Given the description of an element on the screen output the (x, y) to click on. 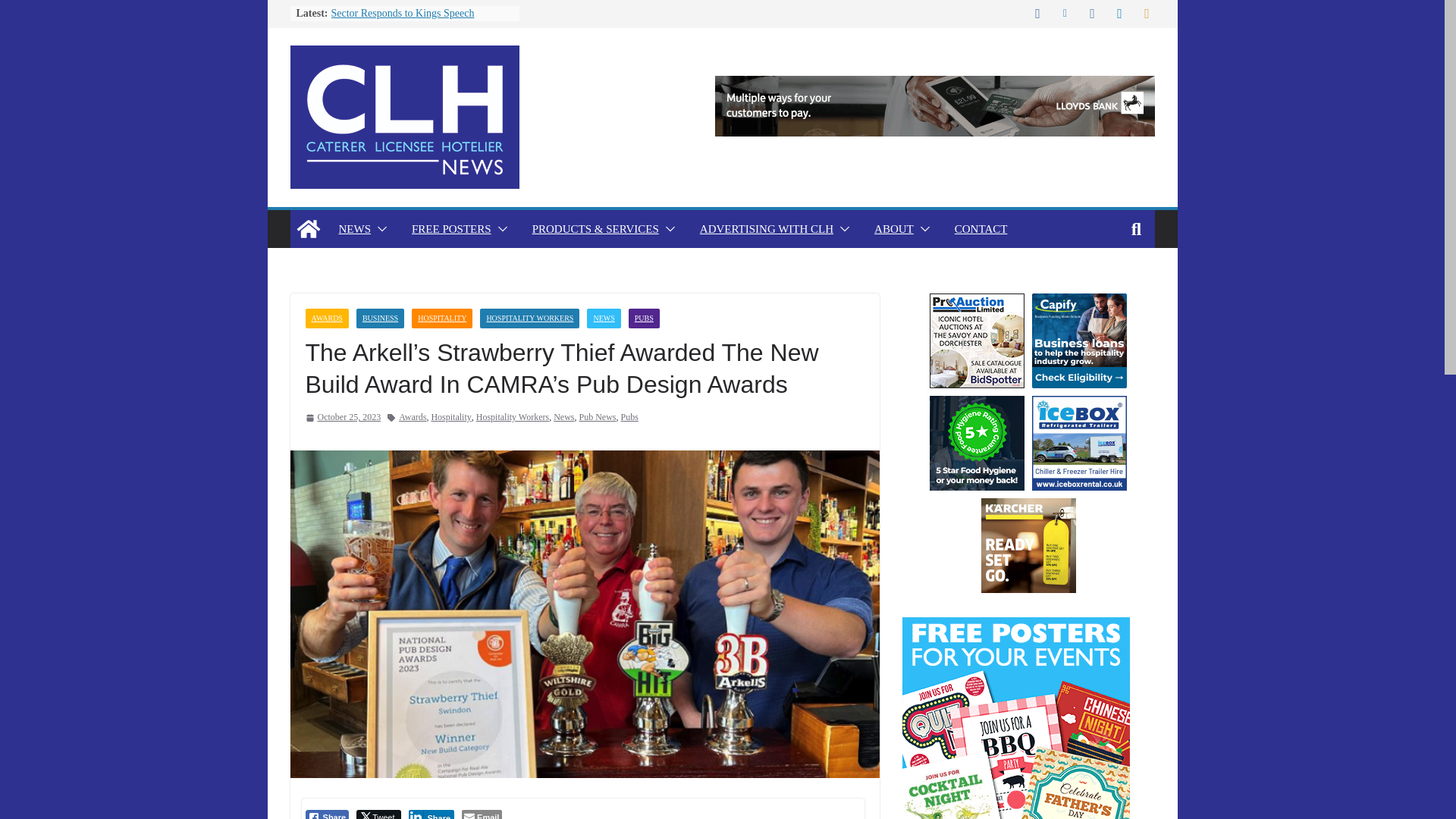
Sector Responds to Kings Speech (402, 12)
NEWS (354, 228)
CLH News: Caterer, Licensee and Hotelier News (307, 228)
Sector Responds to Kings Speech (402, 12)
12:56 pm (342, 417)
FREE POSTERS (452, 228)
